Given the description of an element on the screen output the (x, y) to click on. 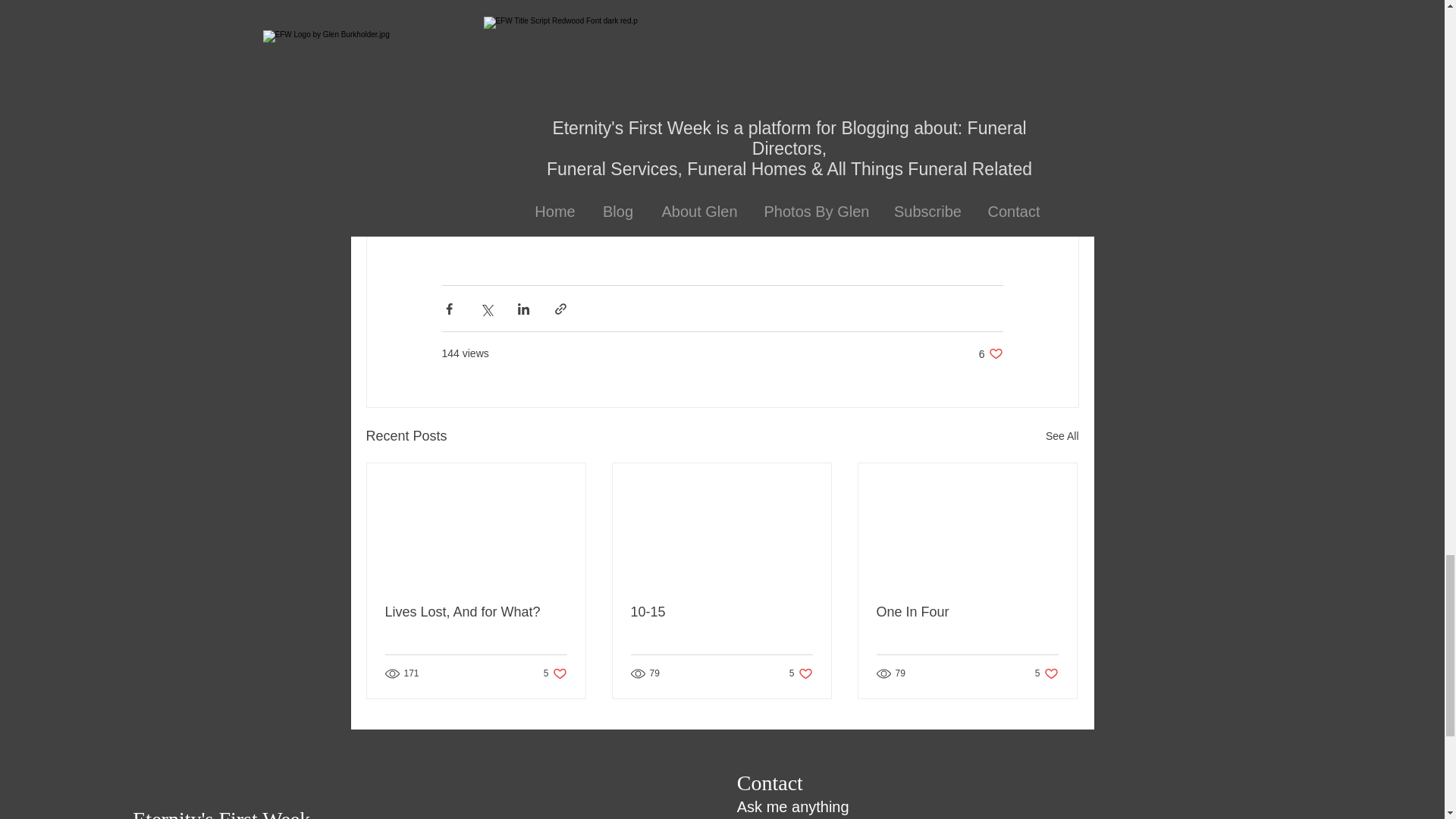
10-15 (800, 672)
See All (721, 611)
Lives Lost, And for What? (1046, 672)
One In Four (1061, 436)
